Given the description of an element on the screen output the (x, y) to click on. 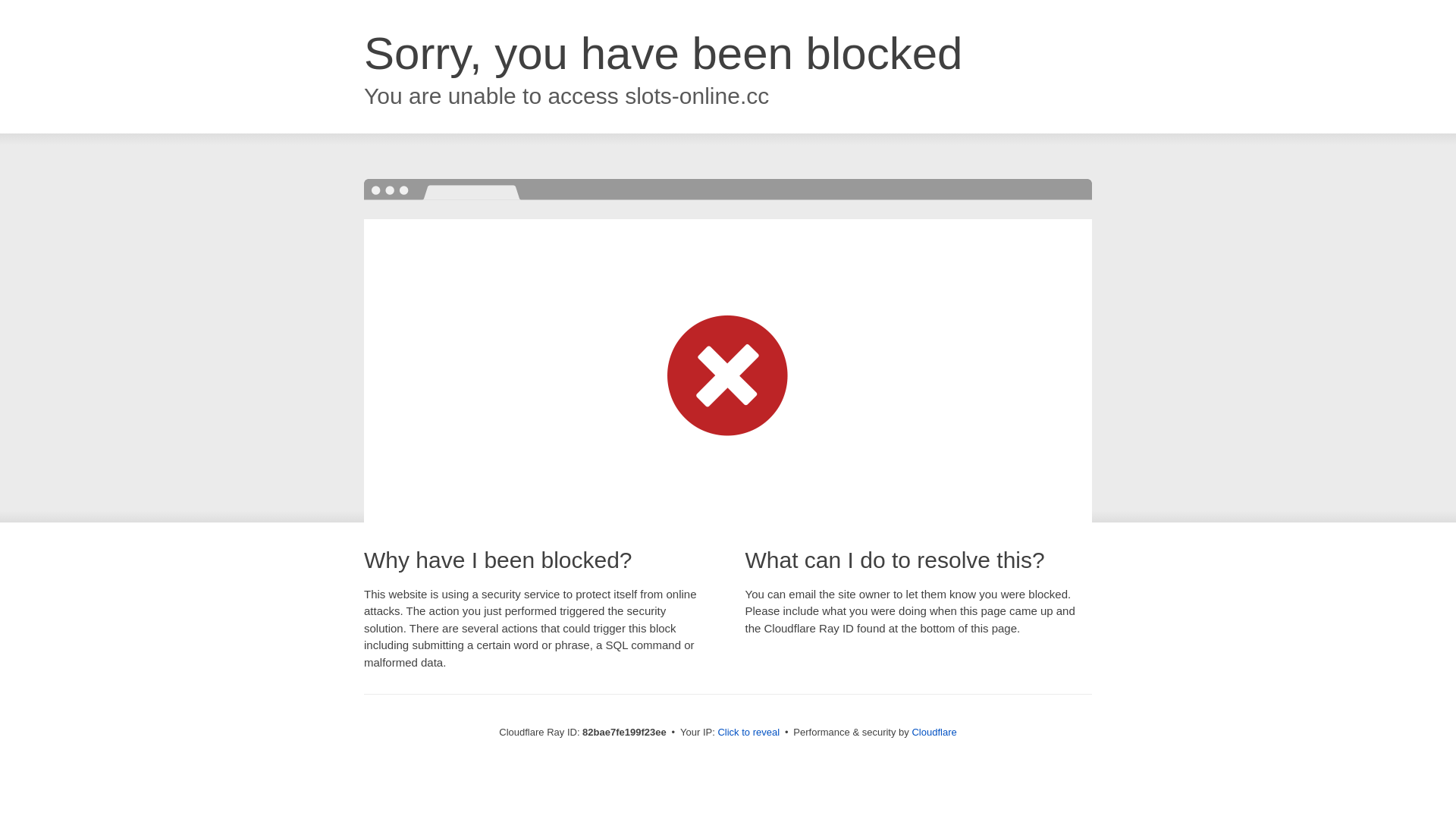
Cloudflare Element type: text (933, 731)
Click to reveal Element type: text (748, 732)
